Given the description of an element on the screen output the (x, y) to click on. 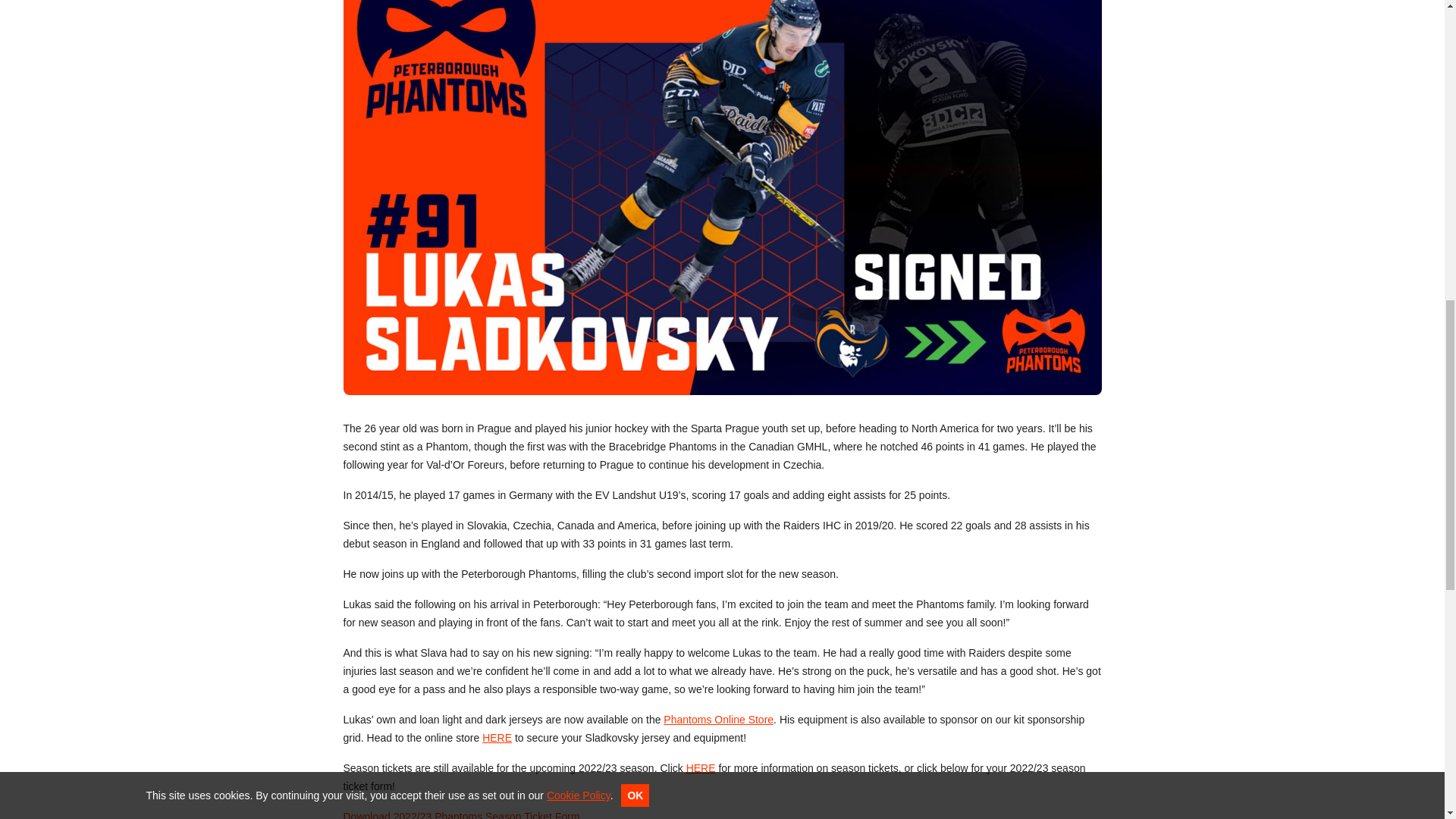
HERE (700, 767)
Phantoms Online Store (718, 719)
HERE (496, 737)
